Given the description of an element on the screen output the (x, y) to click on. 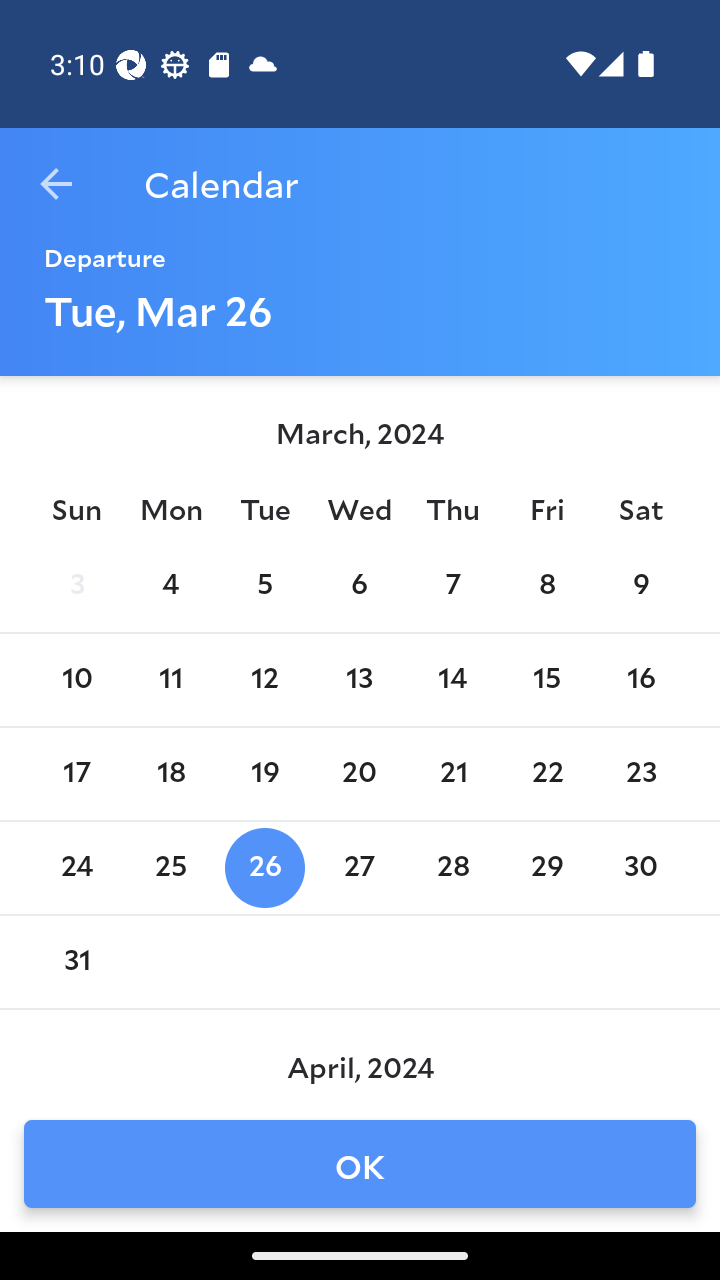
Navigate up (56, 184)
3 (76, 585)
4 (170, 585)
5 (264, 585)
6 (358, 585)
7 (453, 585)
8 (546, 585)
9 (641, 585)
10 (76, 679)
11 (170, 679)
12 (264, 679)
13 (358, 679)
14 (453, 679)
15 (546, 679)
16 (641, 679)
17 (76, 773)
18 (170, 773)
19 (264, 773)
20 (358, 773)
21 (453, 773)
22 (546, 773)
23 (641, 773)
24 (76, 867)
25 (170, 867)
26 (264, 867)
27 (358, 867)
28 (453, 867)
29 (546, 867)
30 (641, 867)
31 (76, 961)
OK (359, 1164)
